Given the description of an element on the screen output the (x, y) to click on. 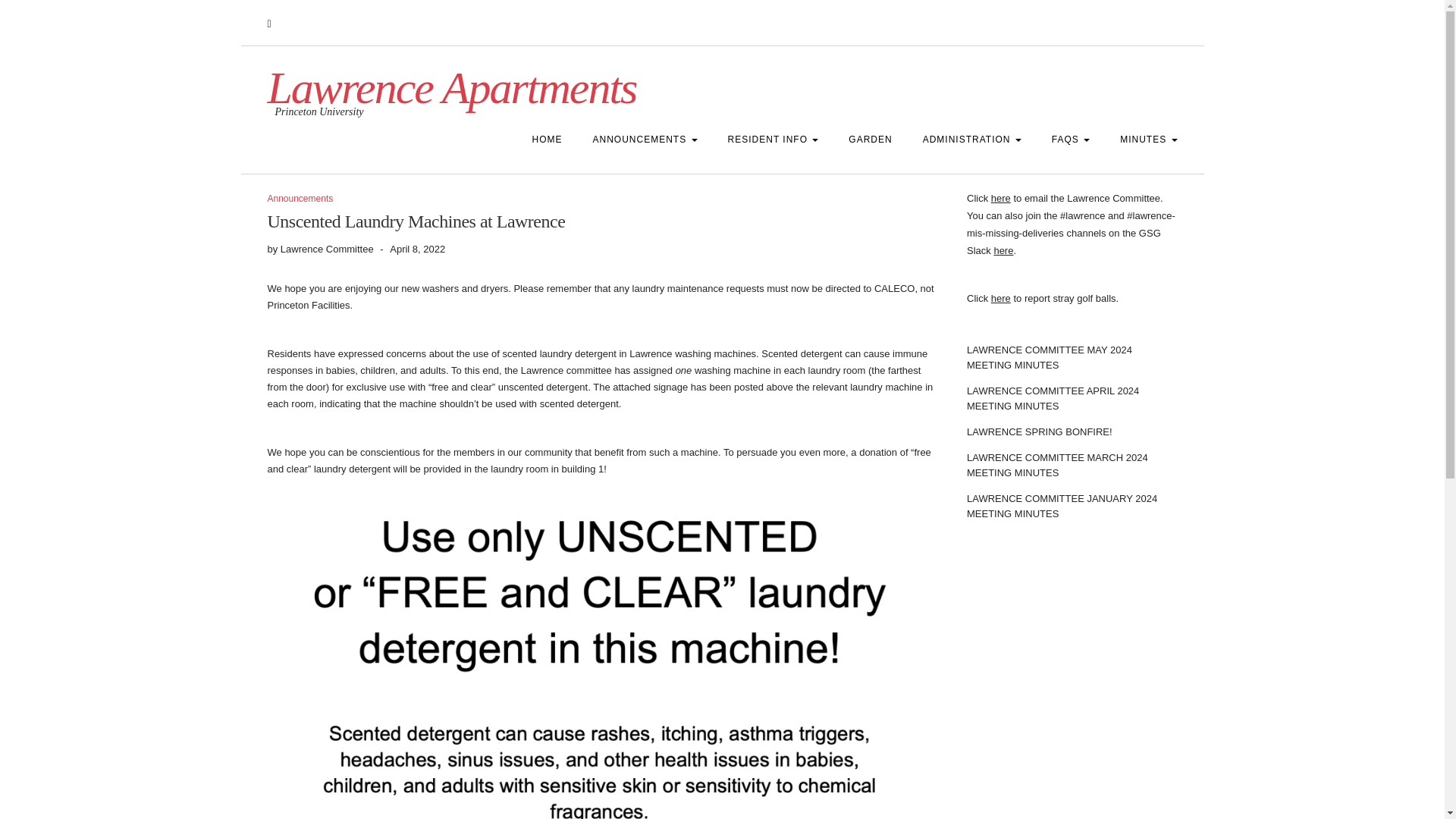
ANNOUNCEMENTS (645, 139)
GARDEN (869, 139)
RESIDENT INFO (773, 139)
FAQS (1070, 139)
Lawrence Apartments (451, 88)
HOME (547, 139)
ADMINISTRATION (971, 139)
